Given the description of an element on the screen output the (x, y) to click on. 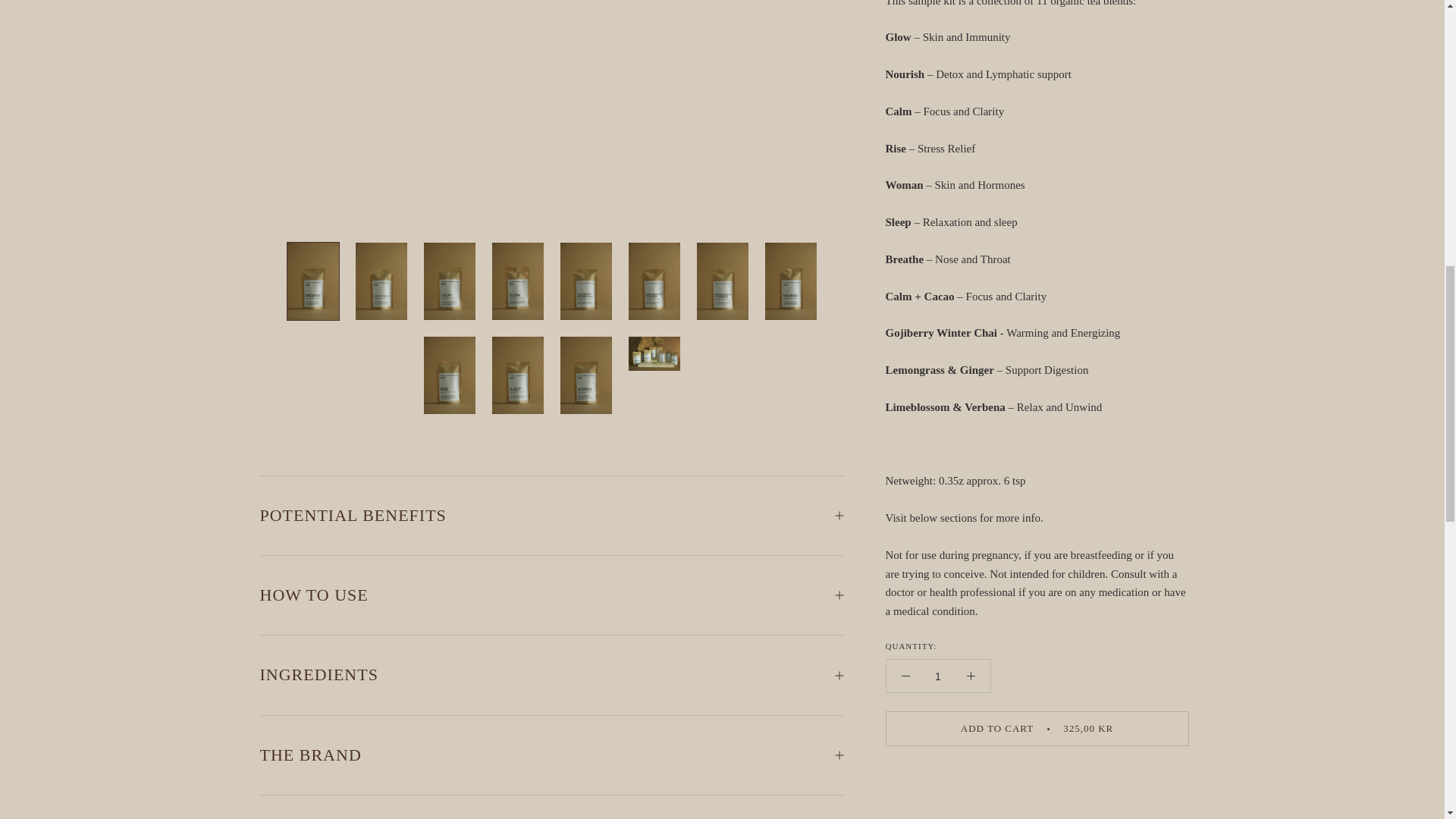
1 (938, 159)
